Given the description of an element on the screen output the (x, y) to click on. 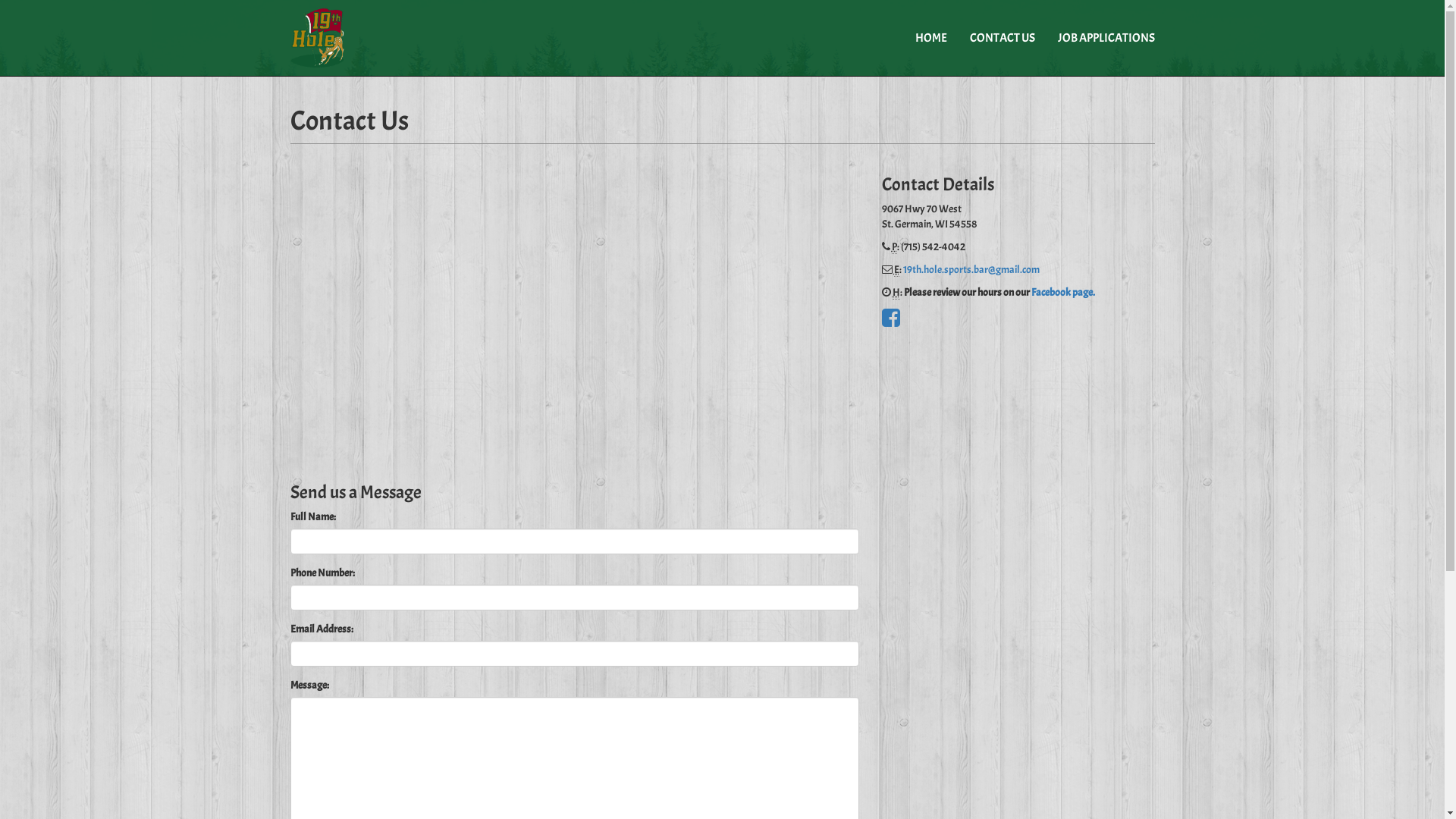
HOME Element type: text (930, 37)
Facebook page. Element type: text (1063, 291)
CONTACT US Element type: text (1002, 37)
JOB APPLICATIONS Element type: text (1106, 37)
19th.hole.sports.bar@gmail.com Element type: text (970, 269)
